Given the description of an element on the screen output the (x, y) to click on. 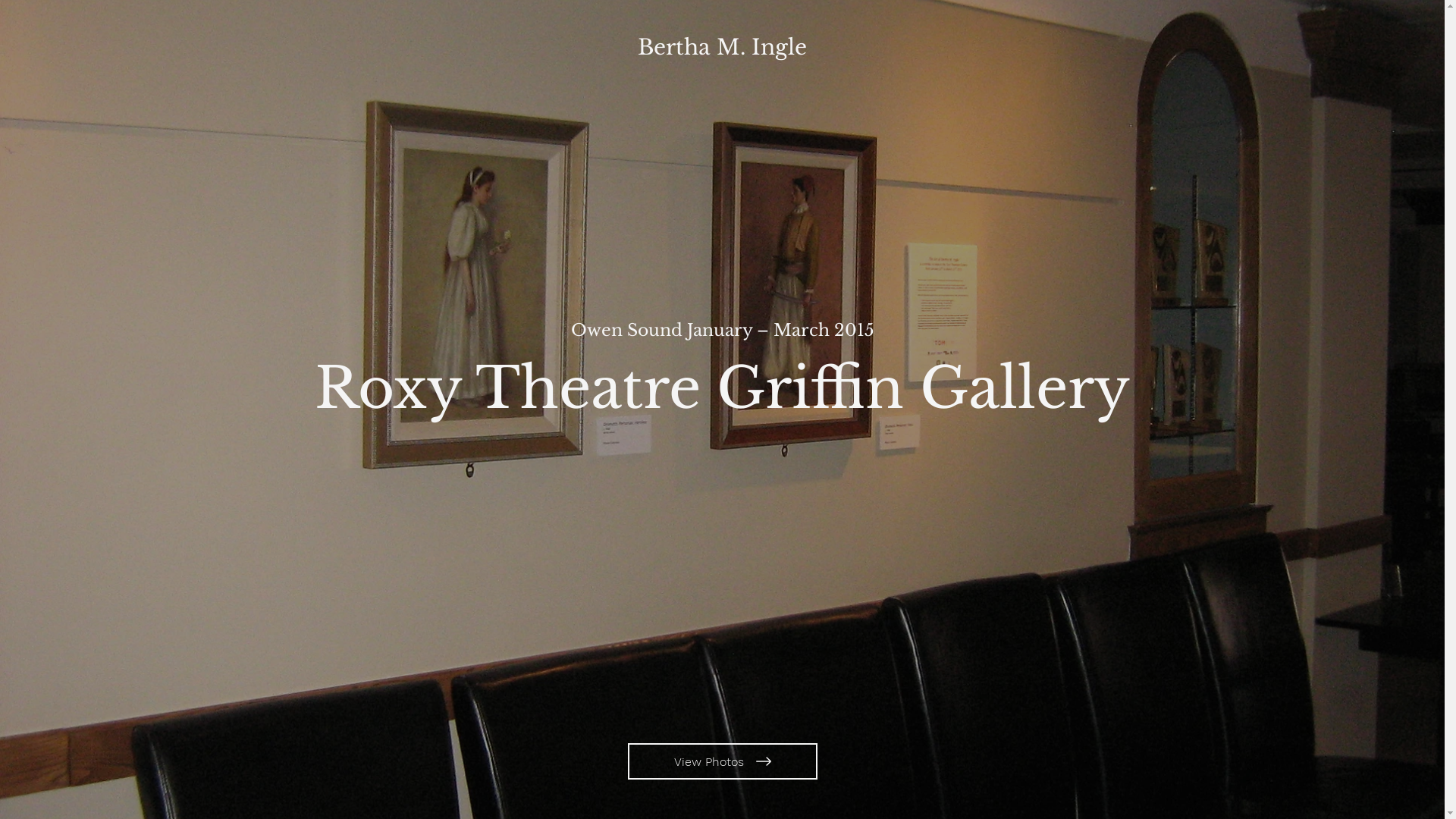
View Photos Element type: text (722, 761)
